Given the description of an element on the screen output the (x, y) to click on. 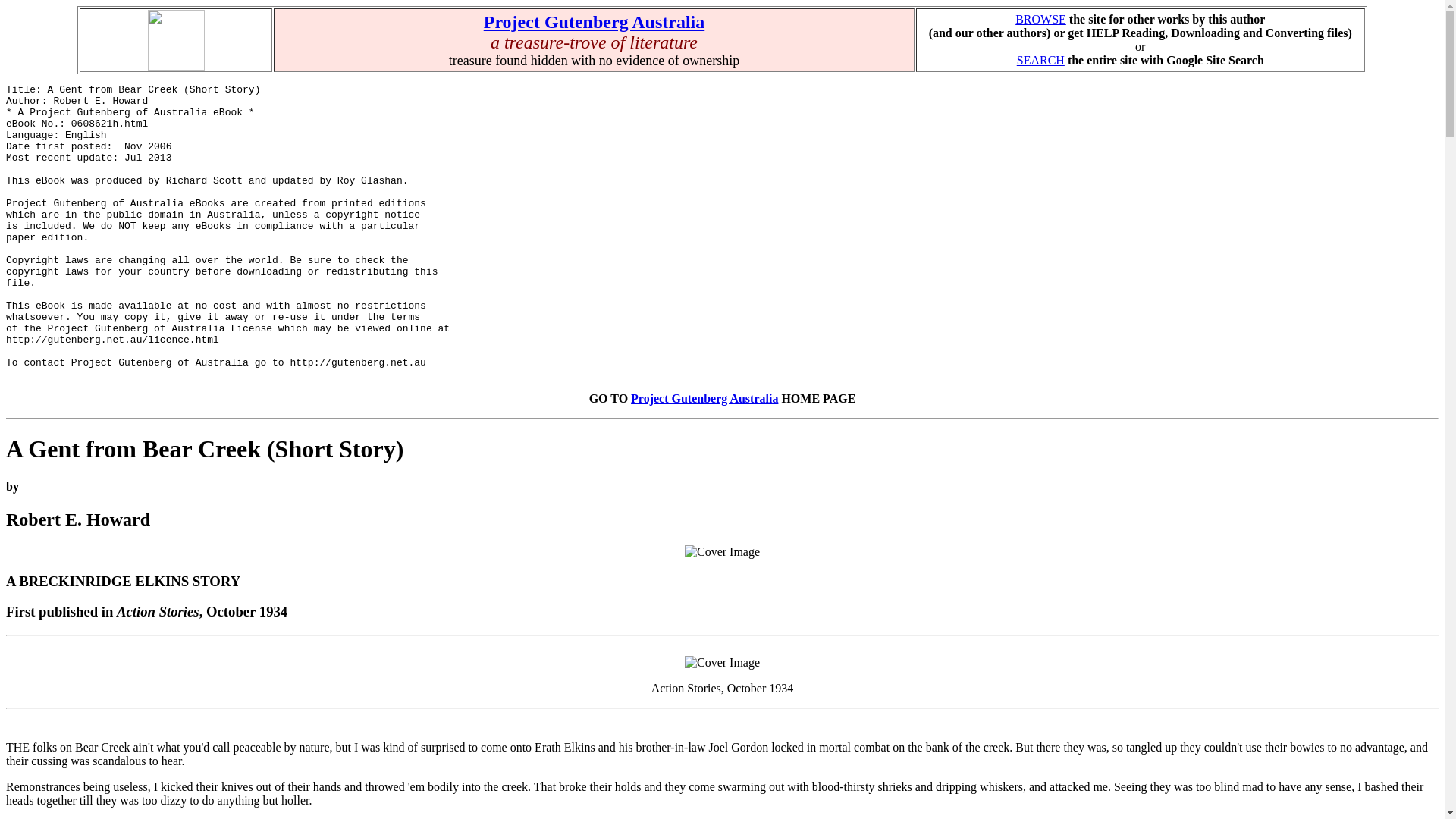
Project Gutenberg Australia (703, 398)
BROWSE (1039, 19)
Action Stories, October 1934 (722, 662)
SEARCH (1040, 60)
Project Gutenberg Australia (593, 21)
